Given the description of an element on the screen output the (x, y) to click on. 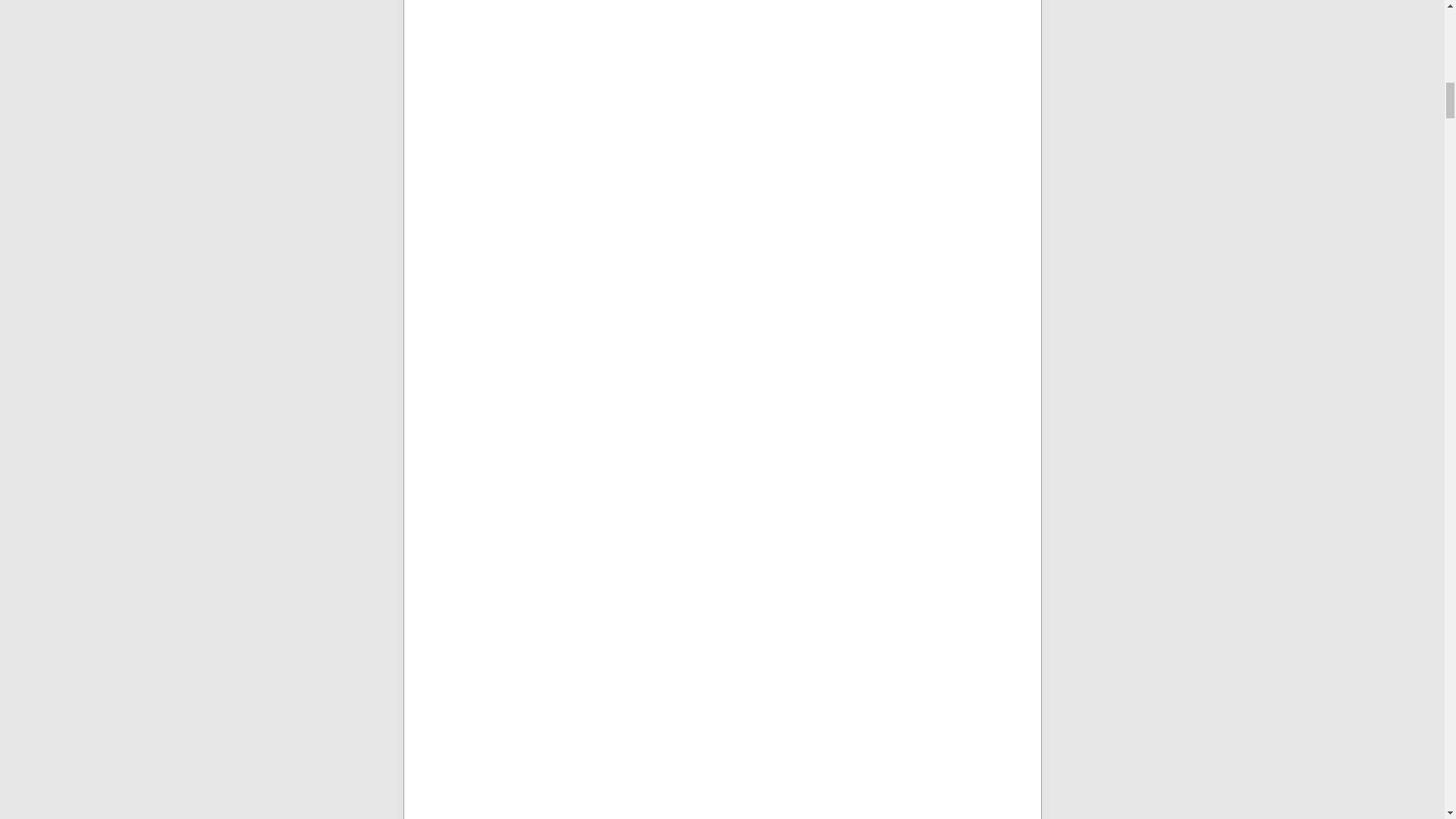
Corrugated Iron (592, 108)
2 (592, 631)
1 (592, 359)
3 (592, 796)
